Given the description of an element on the screen output the (x, y) to click on. 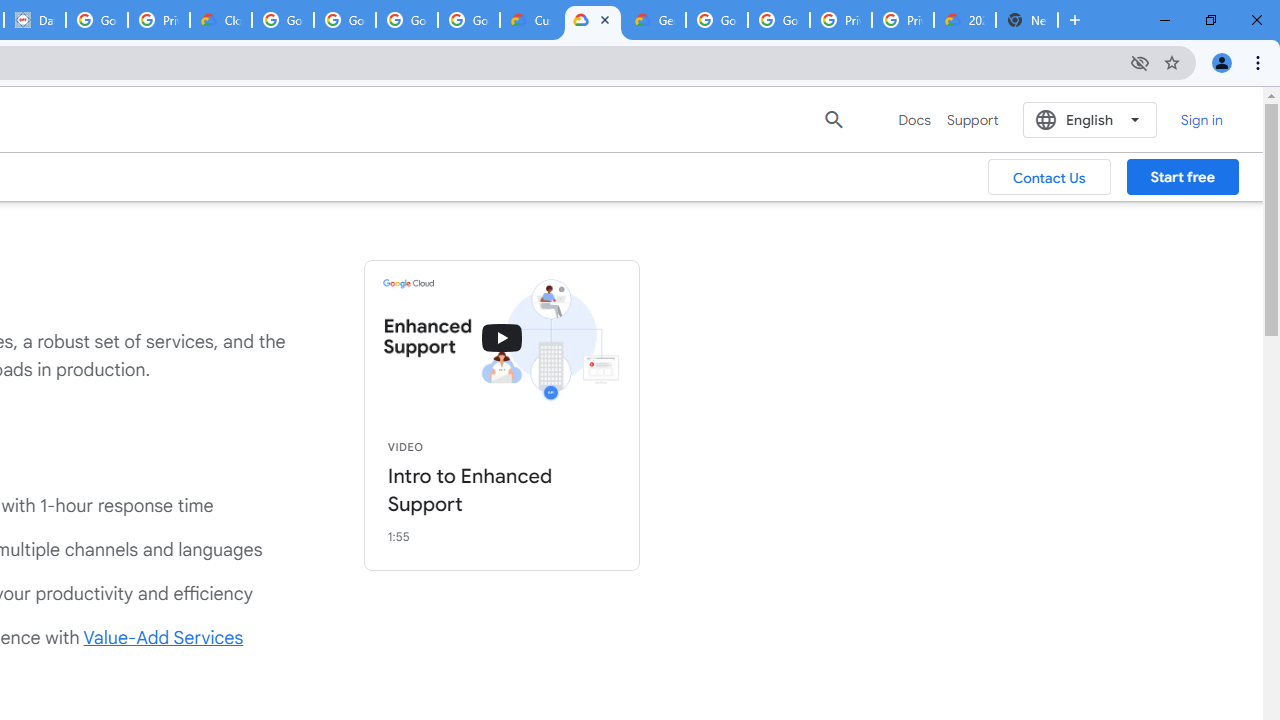
Google Workspace - Specific Terms (406, 20)
Start free (1182, 177)
